Given the description of an element on the screen output the (x, y) to click on. 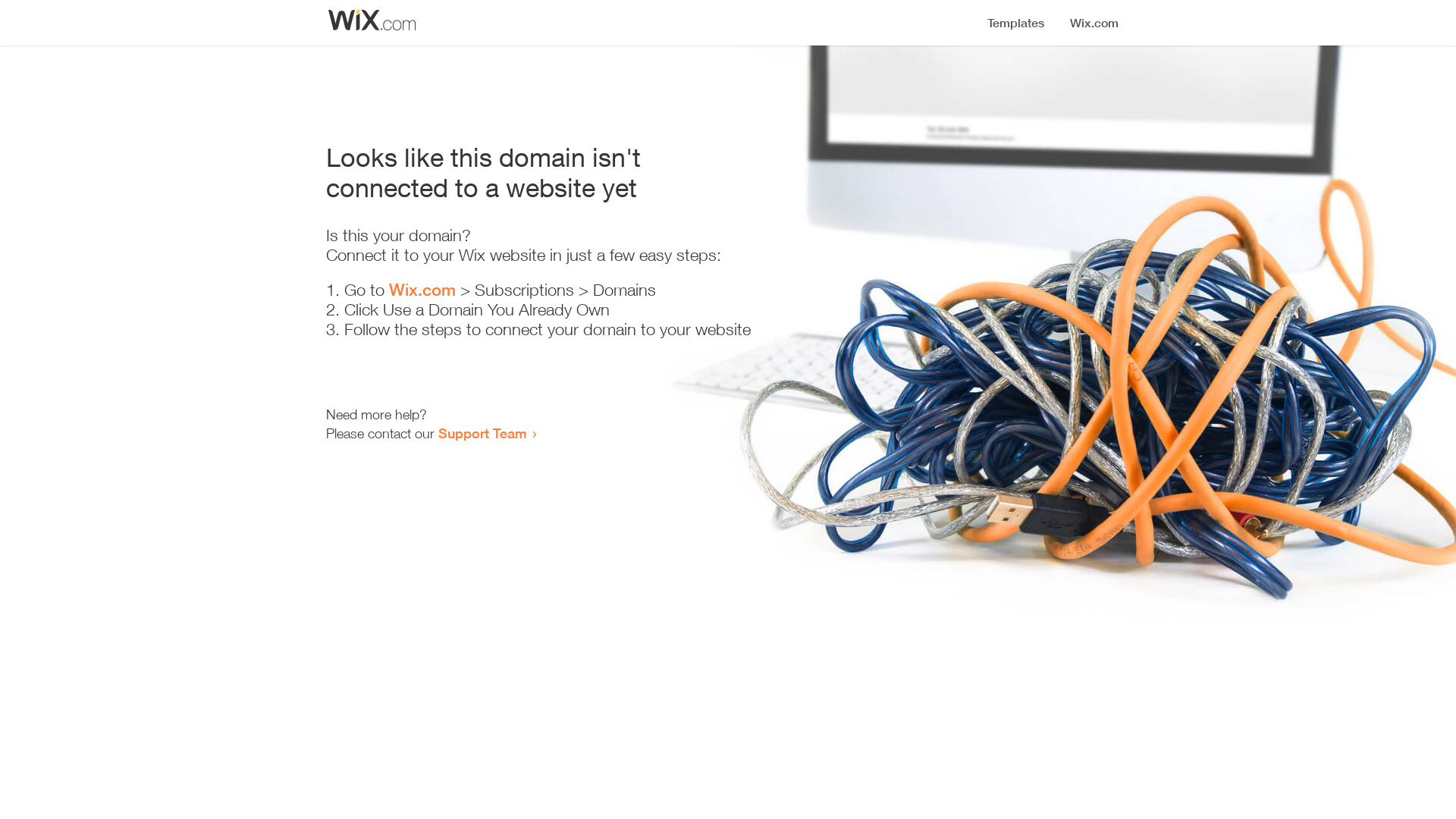
Support Team Element type: text (482, 432)
Wix.com Element type: text (422, 289)
